Given the description of an element on the screen output the (x, y) to click on. 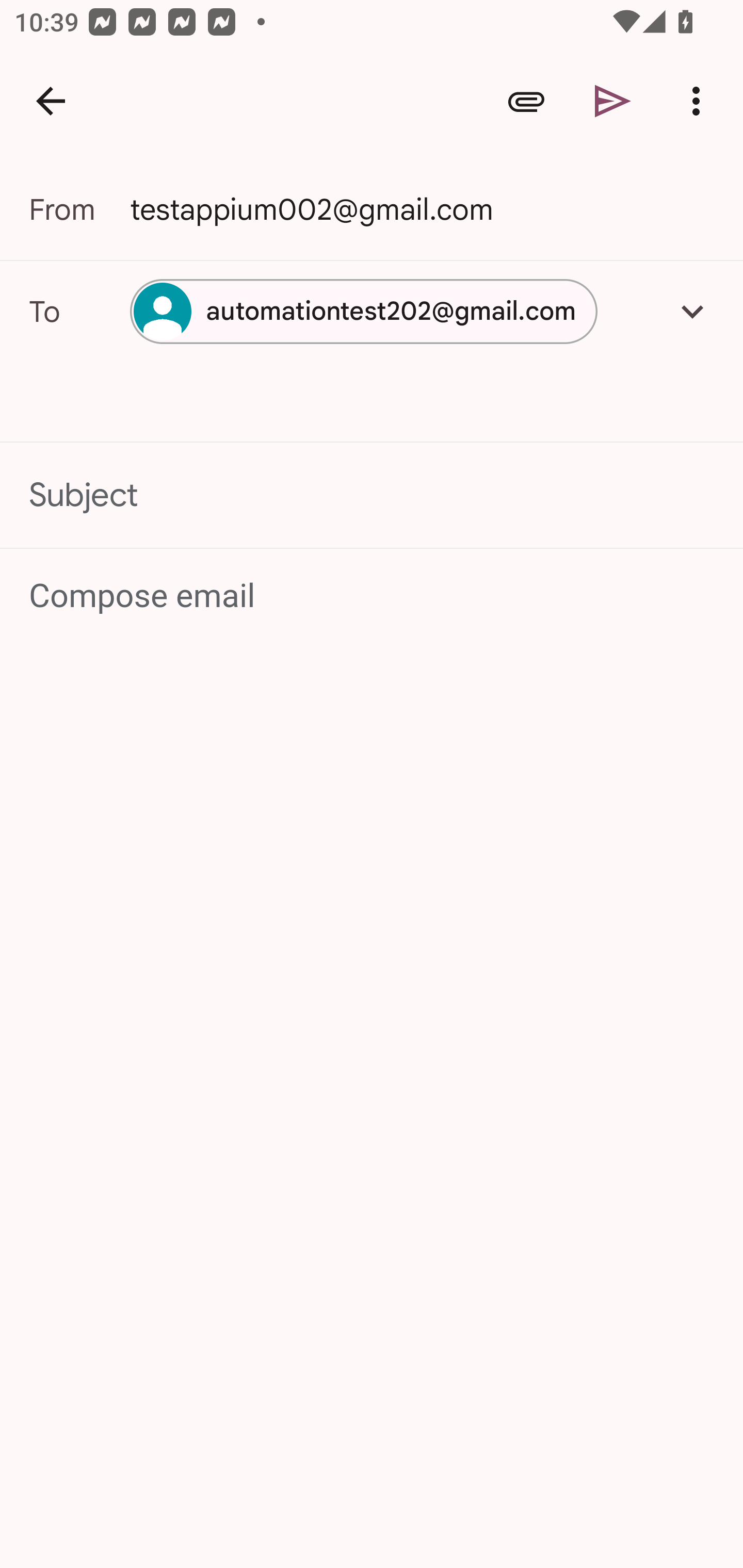
Navigate up (50, 101)
Attach file (525, 101)
Send (612, 101)
More options (699, 101)
From (79, 209)
Add Cc/Bcc (692, 311)
Subject (371, 494)
Compose email (372, 595)
